Given the description of an element on the screen output the (x, y) to click on. 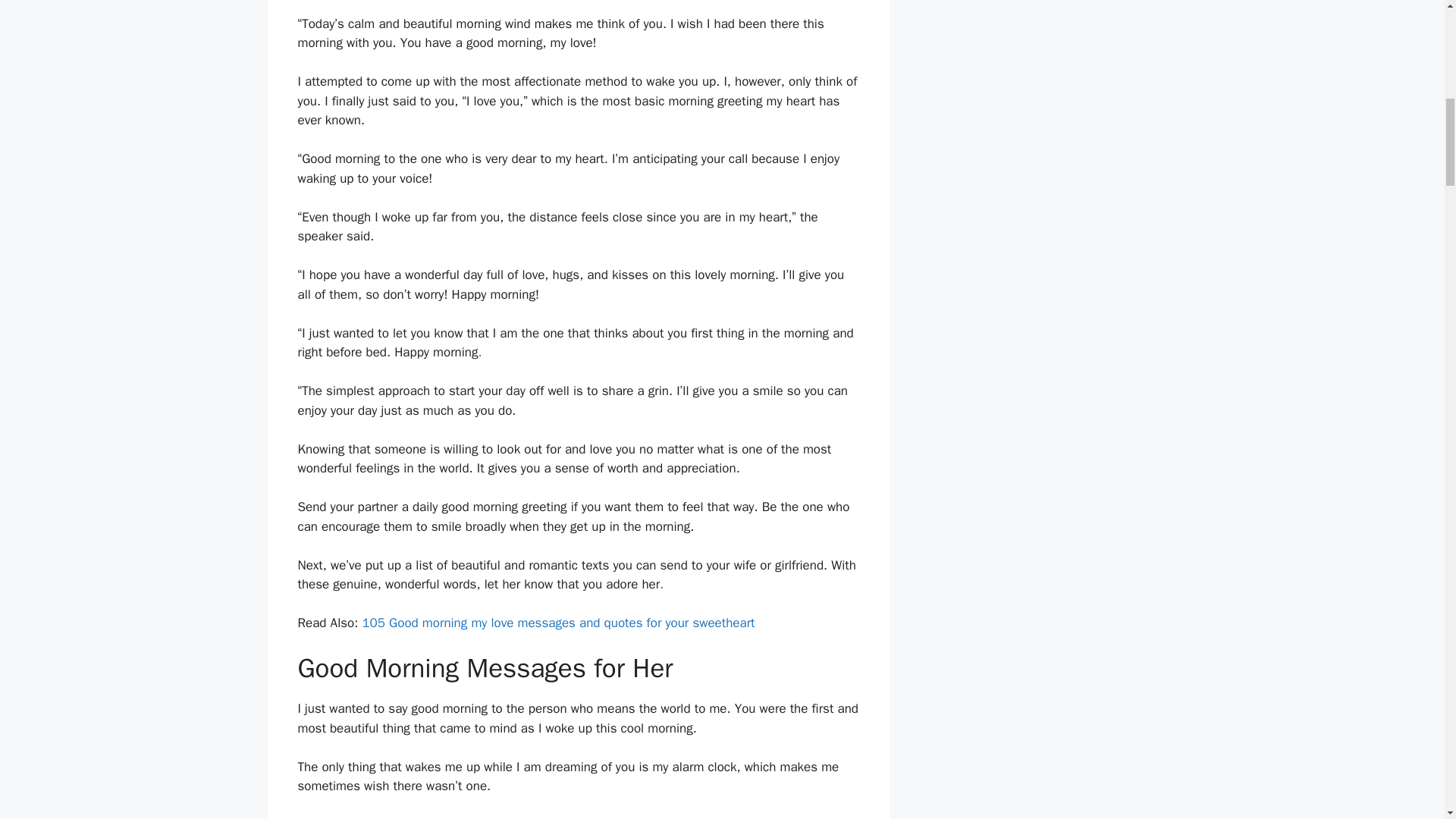
20 Bed Frames in Nigeria and their Prices (607, 785)
Good Morning Messages to Text to an Important Person (590, 178)
